Given the description of an element on the screen output the (x, y) to click on. 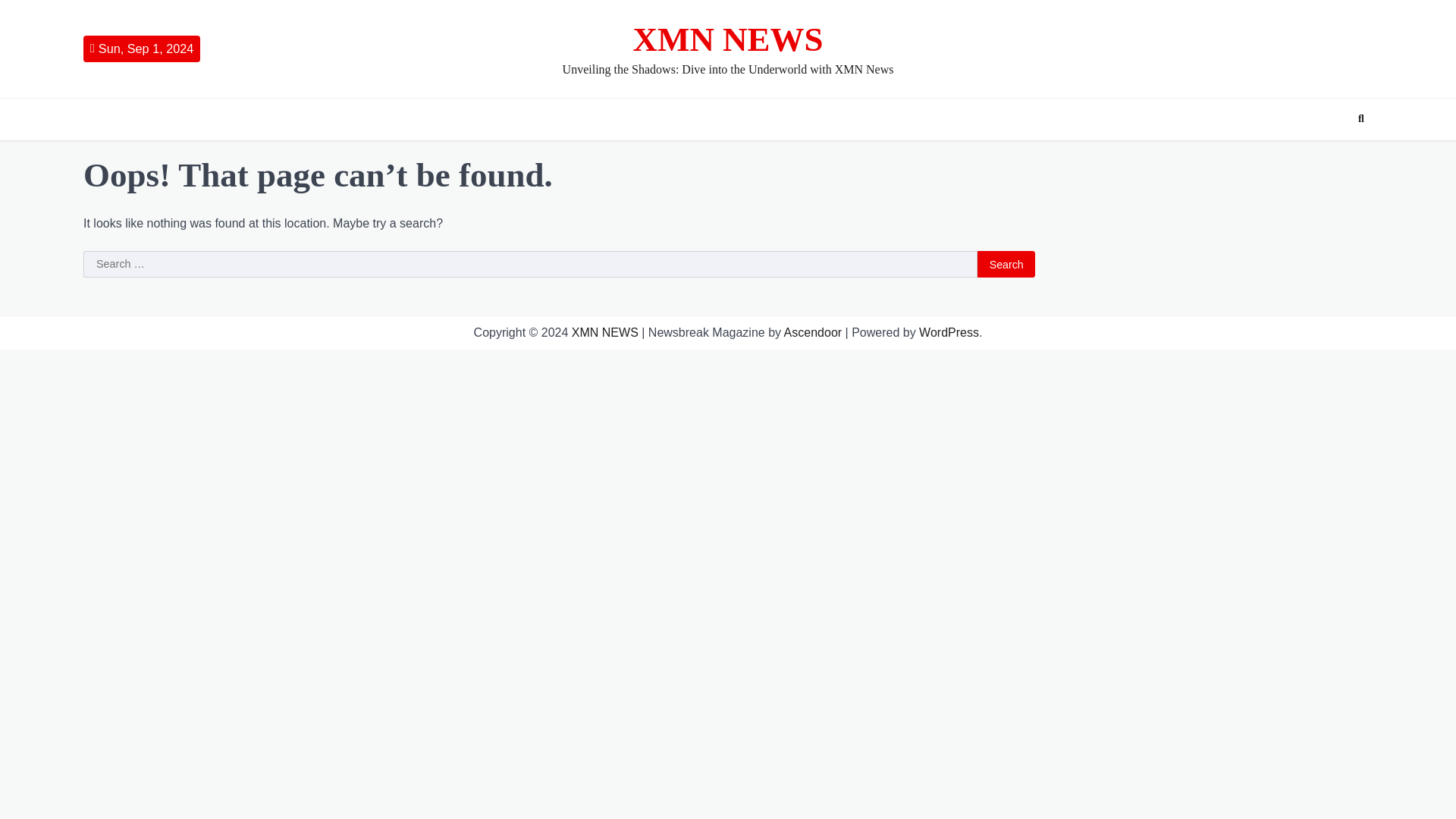
XMN NEWS (726, 39)
Search (1005, 264)
Ascendoor (813, 332)
WordPress (948, 332)
Search (1361, 118)
Search (1333, 154)
XMN NEWS (605, 332)
Search (1005, 264)
Search (1005, 264)
